Given the description of an element on the screen output the (x, y) to click on. 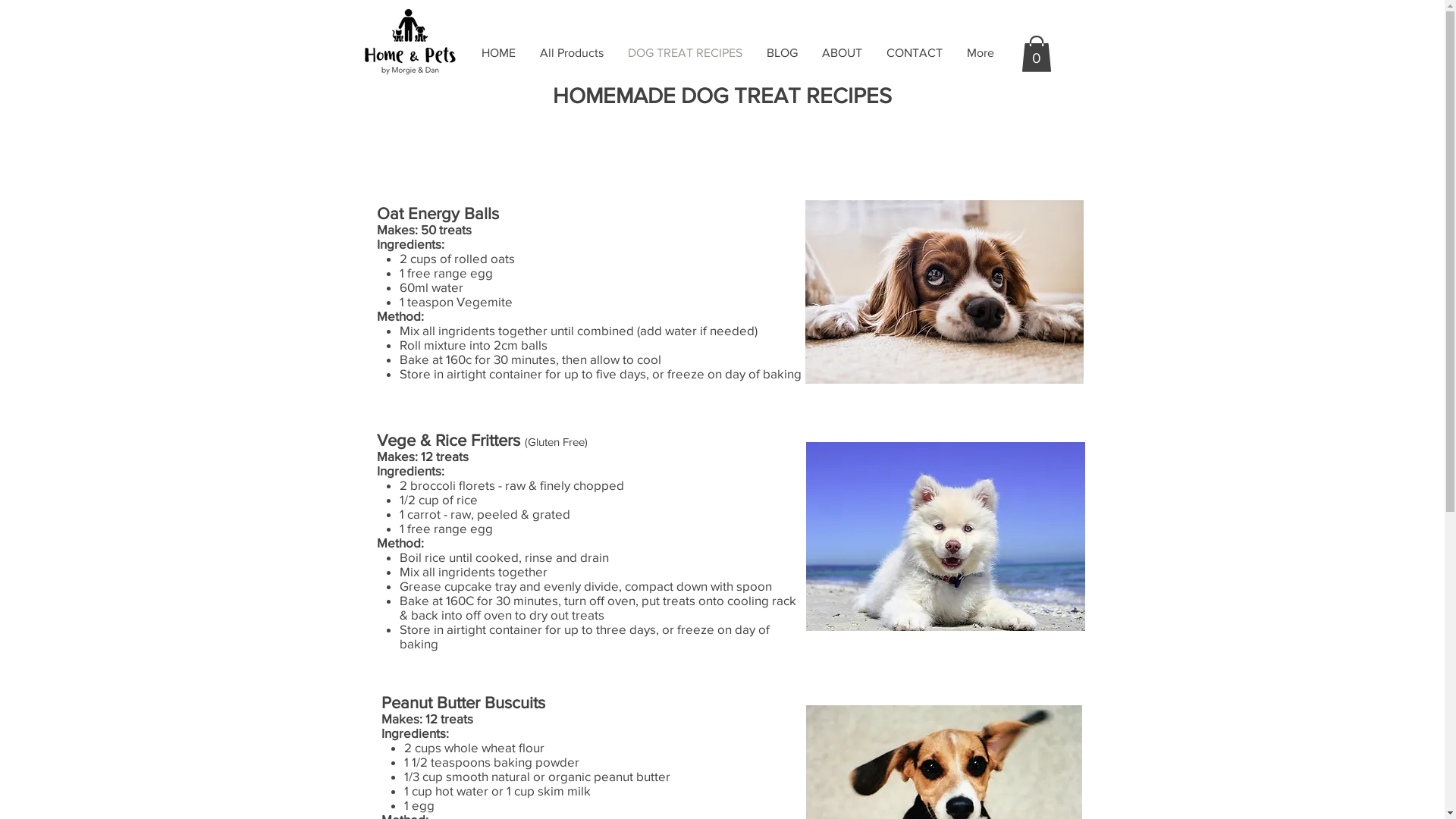
BLOG Element type: text (781, 53)
CONTACT Element type: text (913, 53)
ABOUT Element type: text (841, 53)
DOG TREAT RECIPES Element type: text (684, 53)
HOME Element type: text (497, 53)
All Products Element type: text (571, 53)
0 Element type: text (1035, 53)
